Given the description of an element on the screen output the (x, y) to click on. 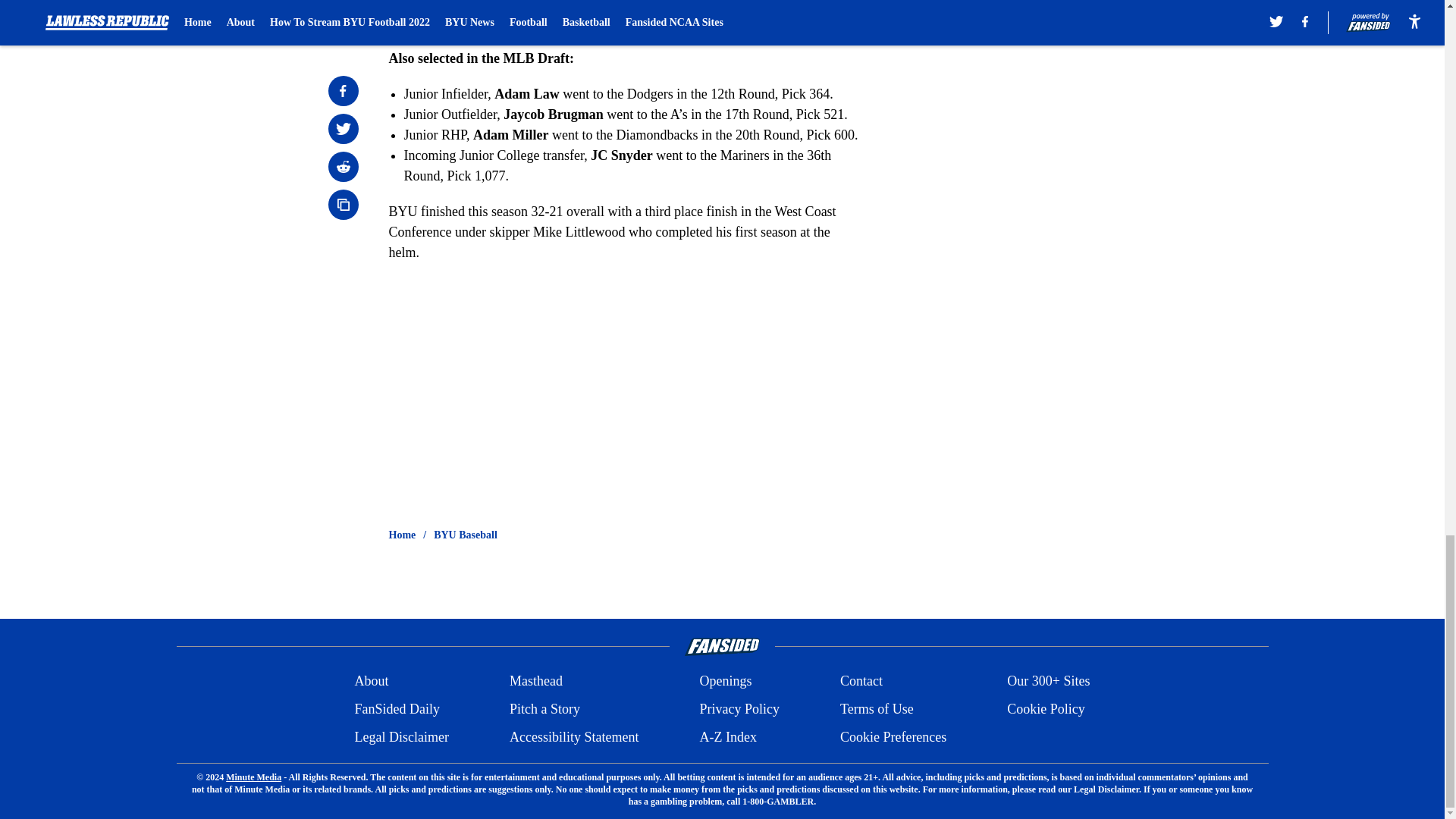
Pitch a Story (544, 709)
Masthead (535, 680)
BYU Baseball (465, 534)
Cookie Preferences (893, 737)
Openings (724, 680)
Privacy Policy (738, 709)
Cookie Policy (1045, 709)
A-Z Index (726, 737)
Minute Media (253, 776)
About (370, 680)
Legal Disclaimer (400, 737)
FanSided Daily (396, 709)
Accessibility Statement (574, 737)
Contact (861, 680)
Terms of Use (877, 709)
